Given the description of an element on the screen output the (x, y) to click on. 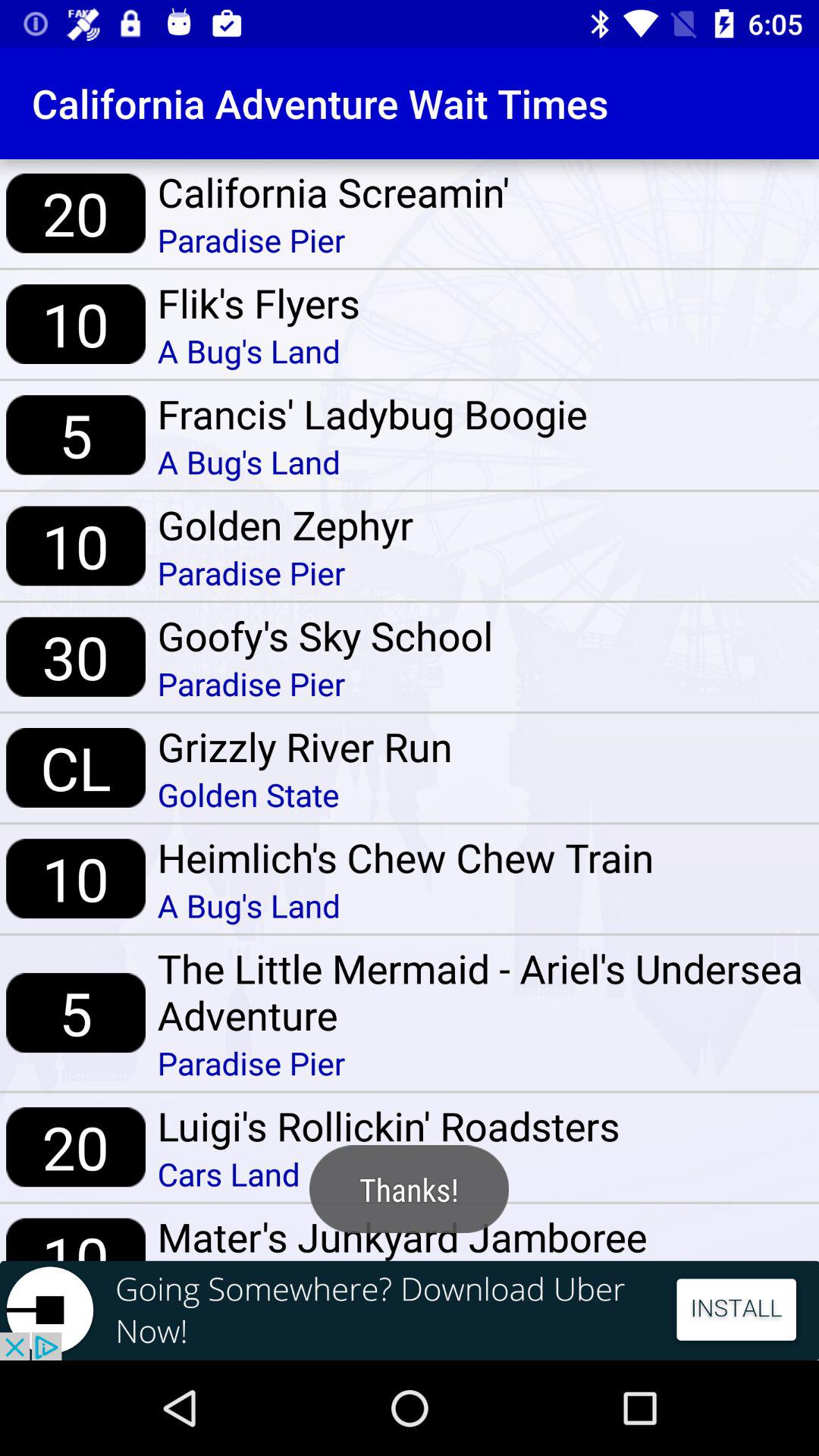
turn on the item below paradise pier item (258, 302)
